Given the description of an element on the screen output the (x, y) to click on. 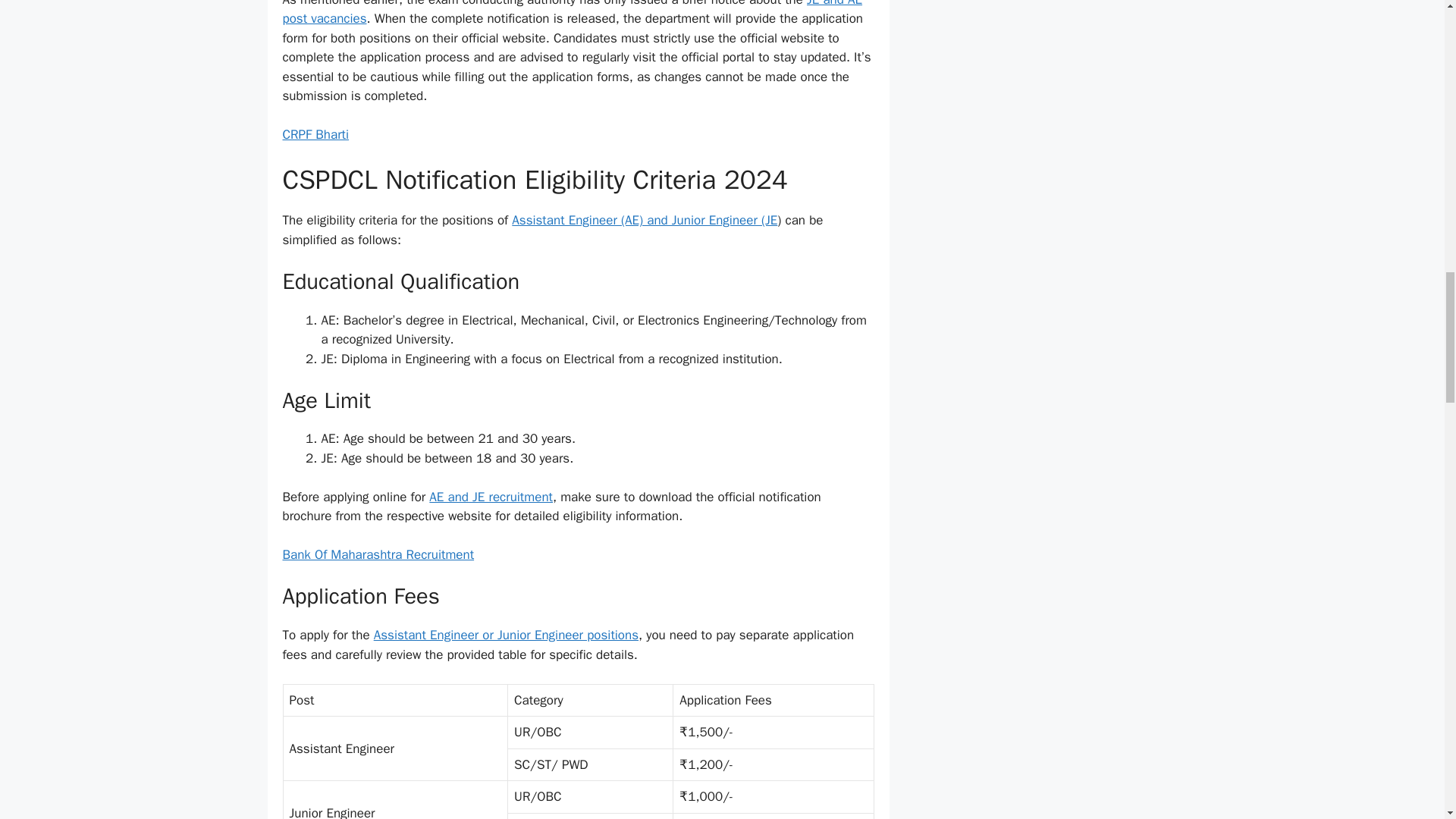
Assistant Engineer or Junior Engineer positions (506, 634)
AE and JE recruitment (491, 496)
JE and AE post vacancies (571, 13)
Bank Of Maharashtra Recruitment (378, 554)
CRPF Bharti (315, 134)
